Given the description of an element on the screen output the (x, y) to click on. 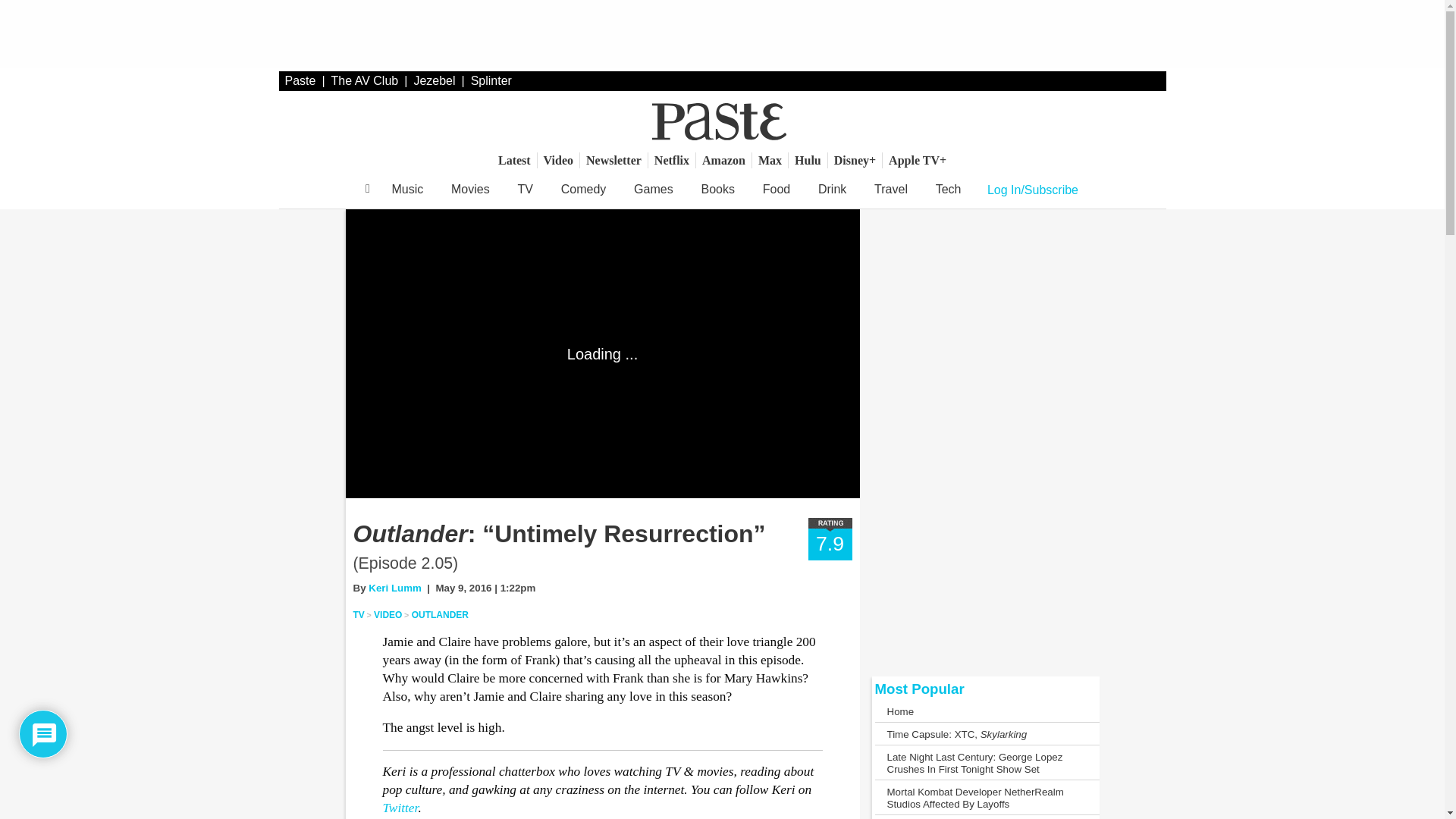
Paste (300, 80)
Latest (514, 160)
Splinter (491, 80)
Jezebel (433, 80)
Hulu (808, 160)
Netflix (671, 160)
Max (769, 160)
Newsletter (613, 160)
Amazon (723, 160)
The AV Club (364, 80)
Video (558, 160)
